Given the description of an element on the screen output the (x, y) to click on. 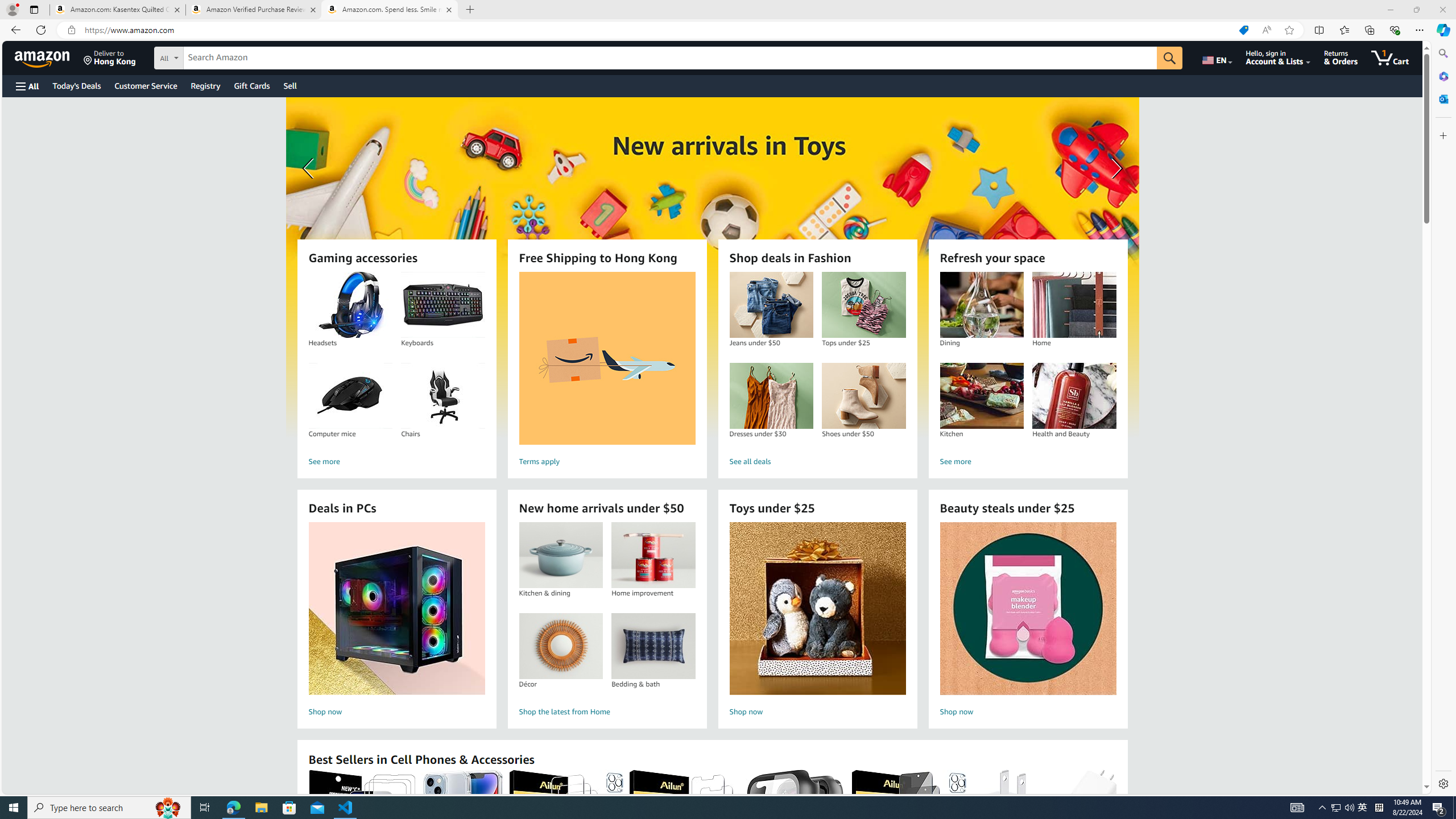
Headsets (350, 304)
Kitchen (981, 395)
Kitchen & dining (560, 555)
Shop the latest from Home (606, 712)
Dresses under $30 (770, 395)
Deliver to Hong Kong (109, 57)
Kitchen & dining (560, 555)
Dining (981, 304)
Today's Deals (76, 85)
Beauty steals under $25 (1027, 608)
Beauty (711, 267)
